Given the description of an element on the screen output the (x, y) to click on. 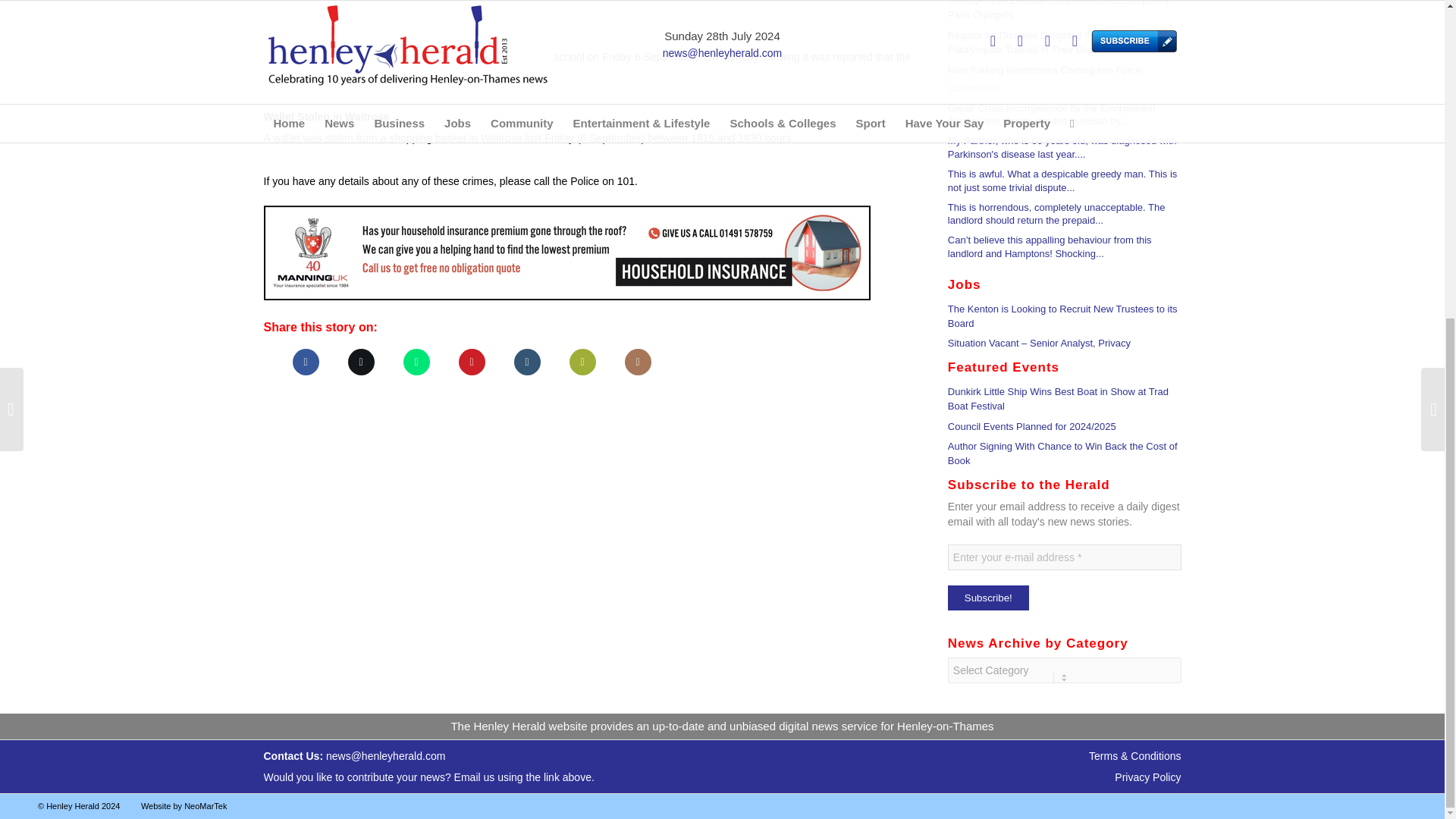
Subscribe! (988, 597)
